Given the description of an element on the screen output the (x, y) to click on. 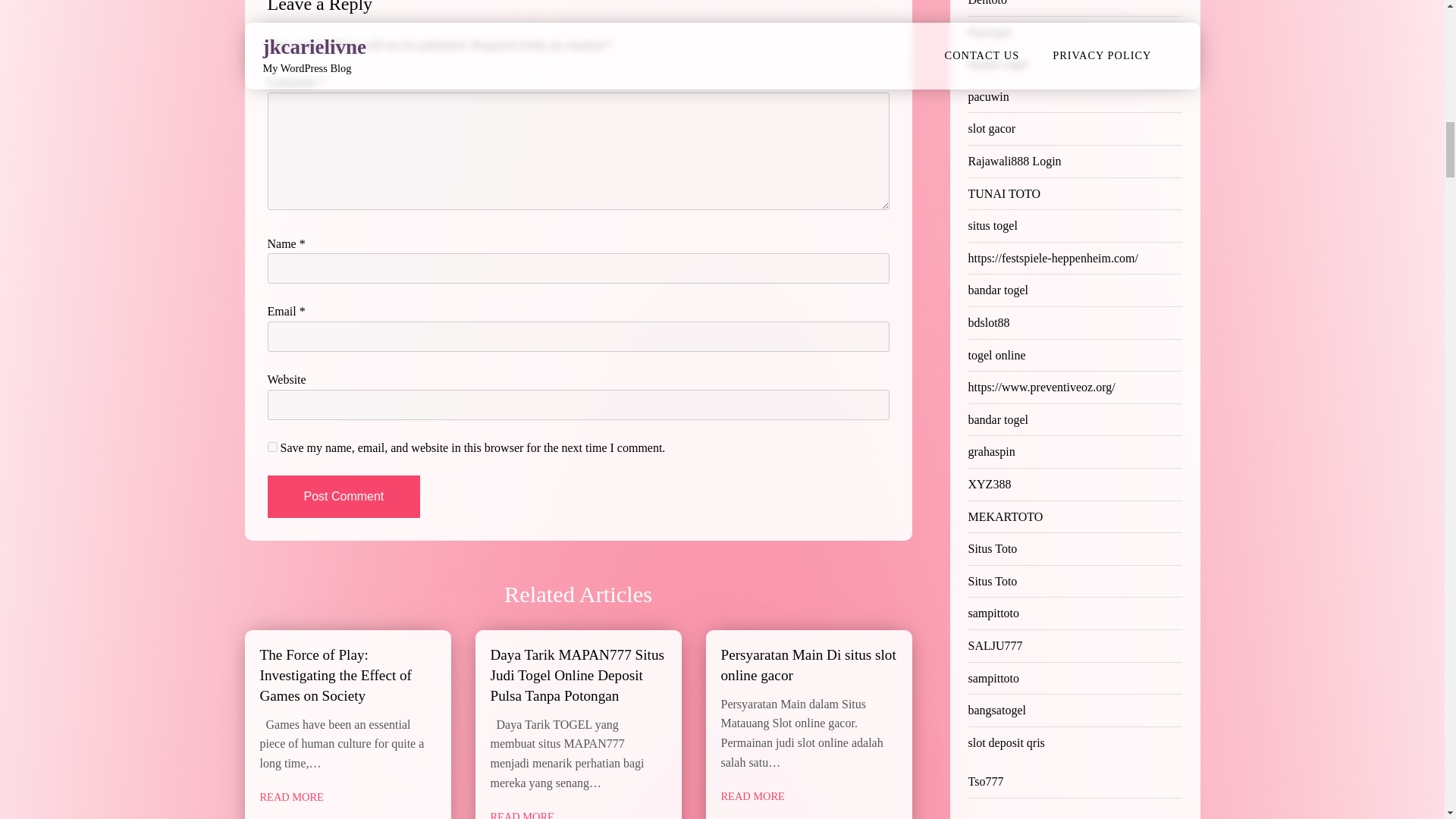
yes (271, 447)
READ MORE (752, 796)
Persyaratan Main Di situs slot online gacor (807, 665)
READ MORE (291, 796)
READ MORE (521, 813)
Post Comment (343, 496)
Post Comment (343, 496)
